Given the description of an element on the screen output the (x, y) to click on. 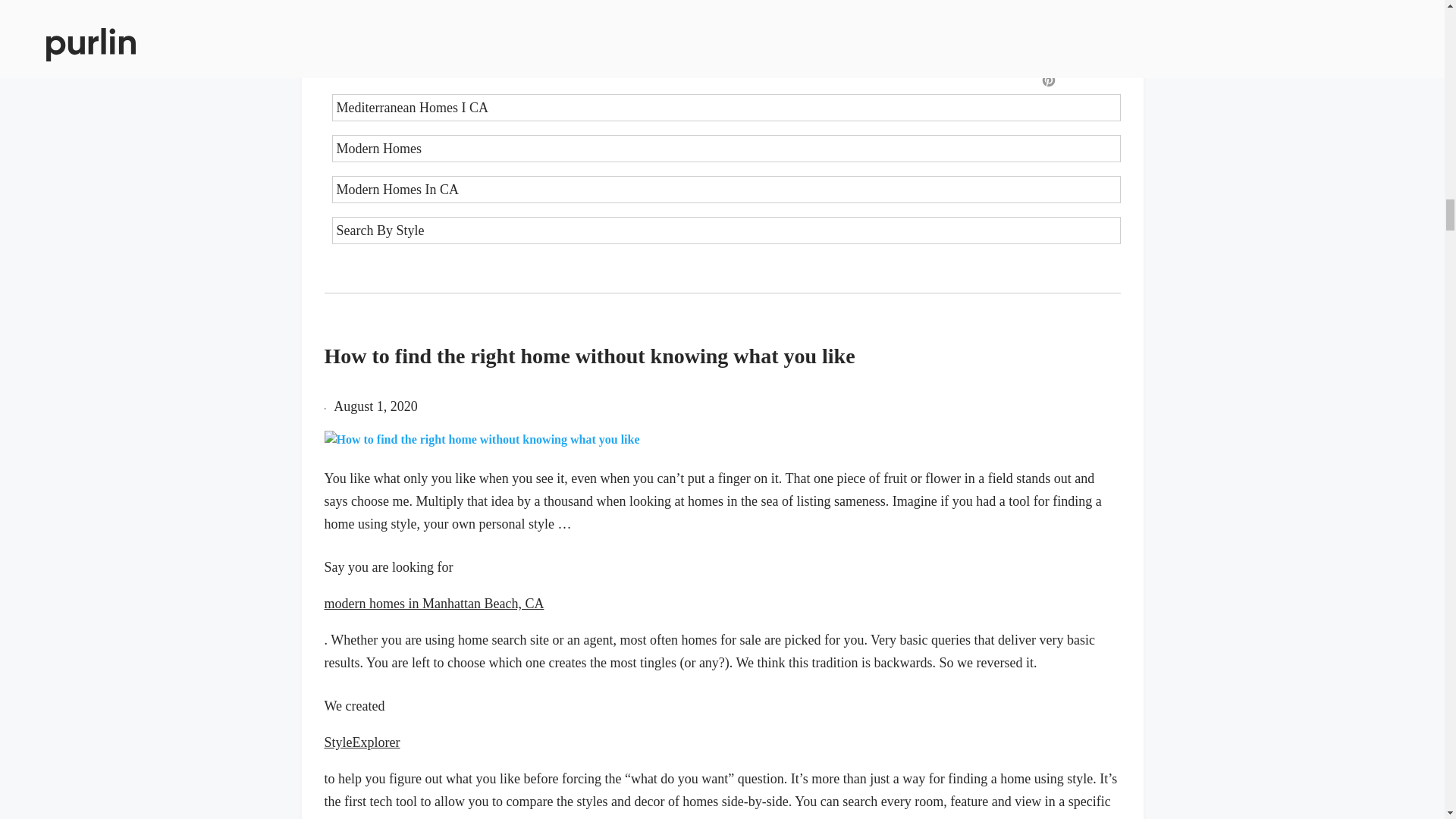
Pinterest (1047, 80)
